Given the description of an element on the screen output the (x, y) to click on. 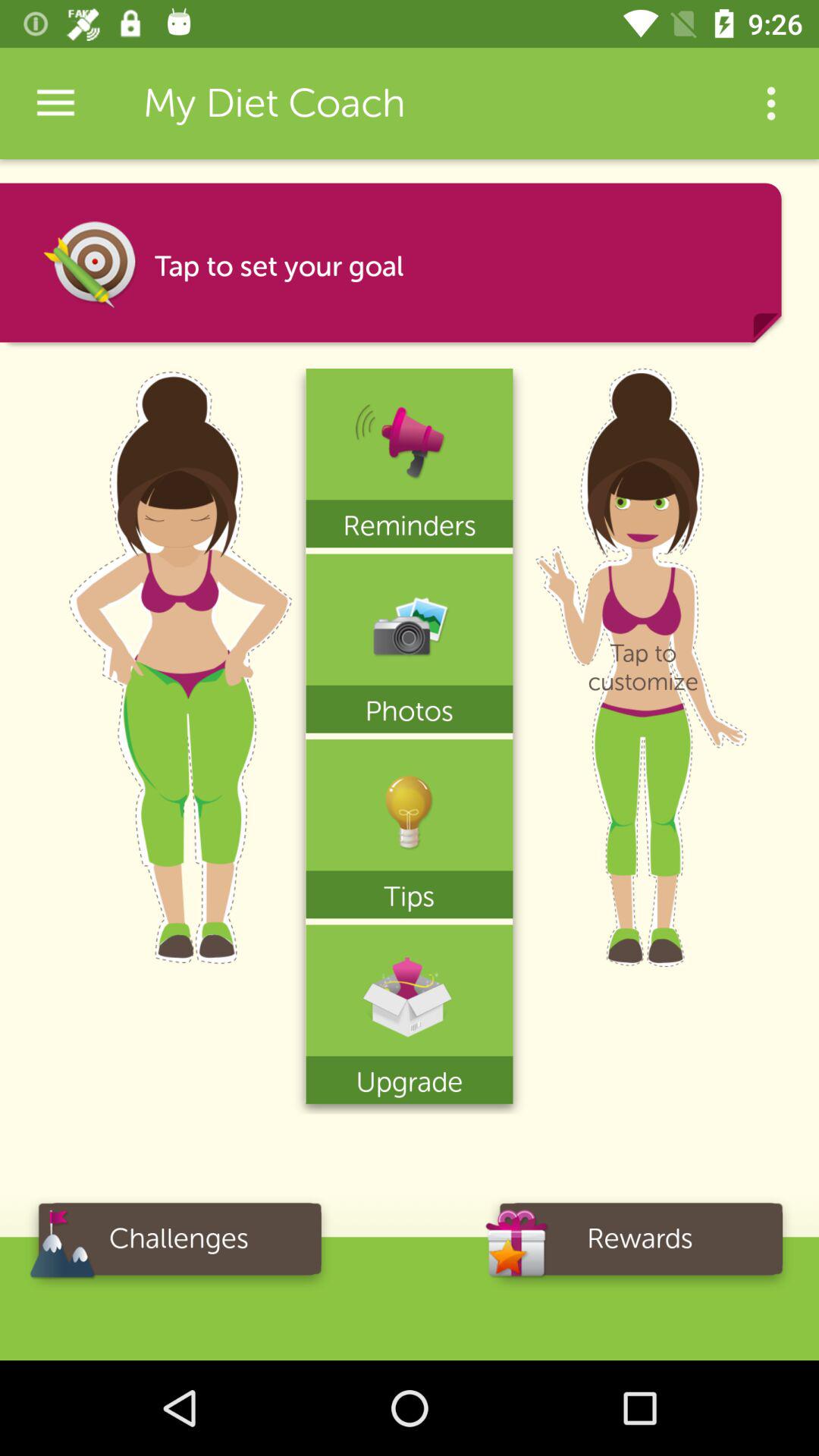
select app next to the my diet coach item (771, 103)
